Given the description of an element on the screen output the (x, y) to click on. 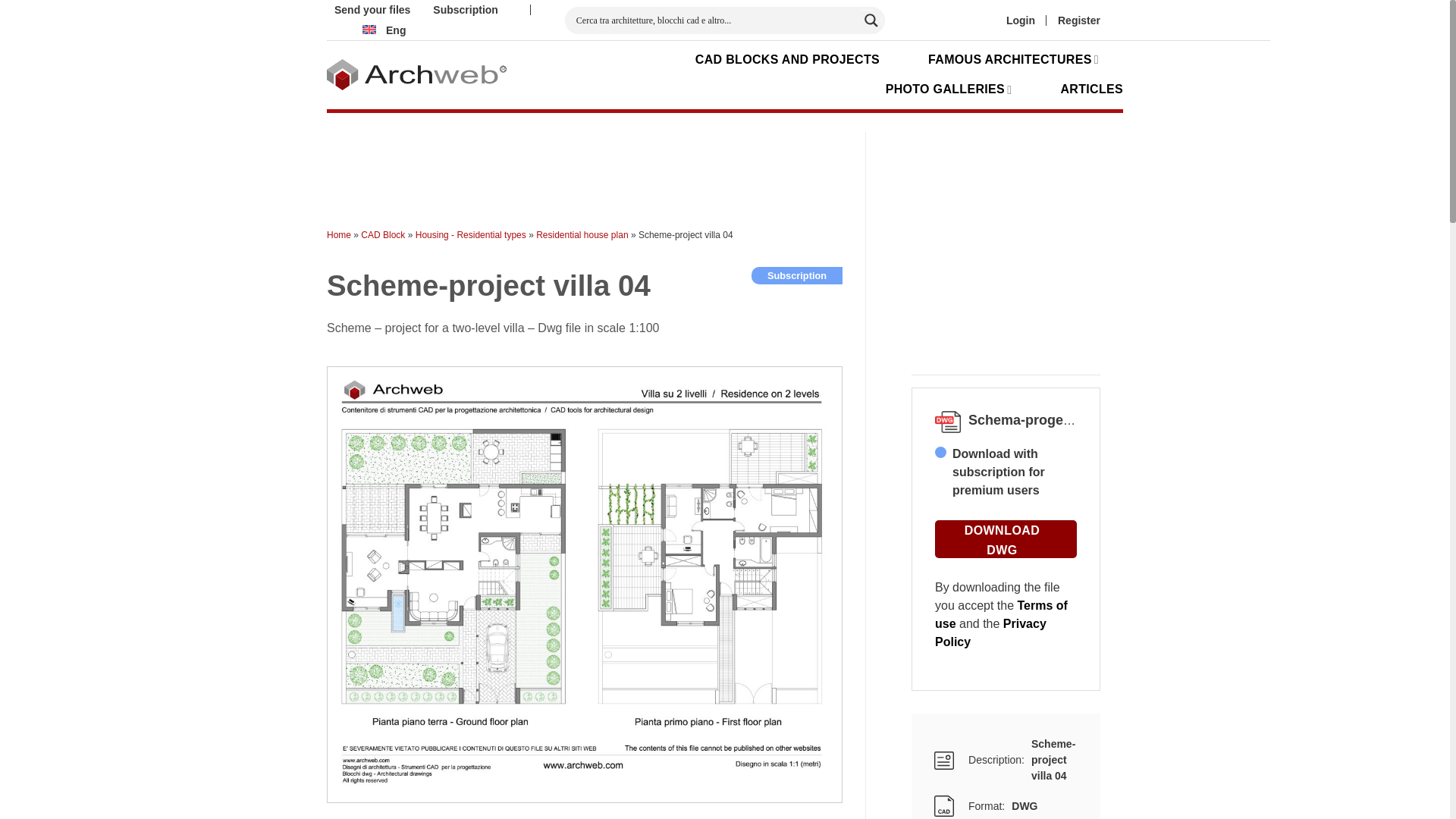
Advertisement (1051, 245)
PHOTO GALLERIES (948, 89)
Archweb - Strumenti per la progettazione architettonica (416, 74)
Login (1020, 20)
Register (1079, 20)
FAMOUS ARCHITECTURES (1013, 59)
Send your files (372, 10)
Advertisement (629, 165)
CAD BLOCKS AND PROJECTS (787, 59)
Eng (382, 30)
Subscription (464, 10)
